Given the description of an element on the screen output the (x, y) to click on. 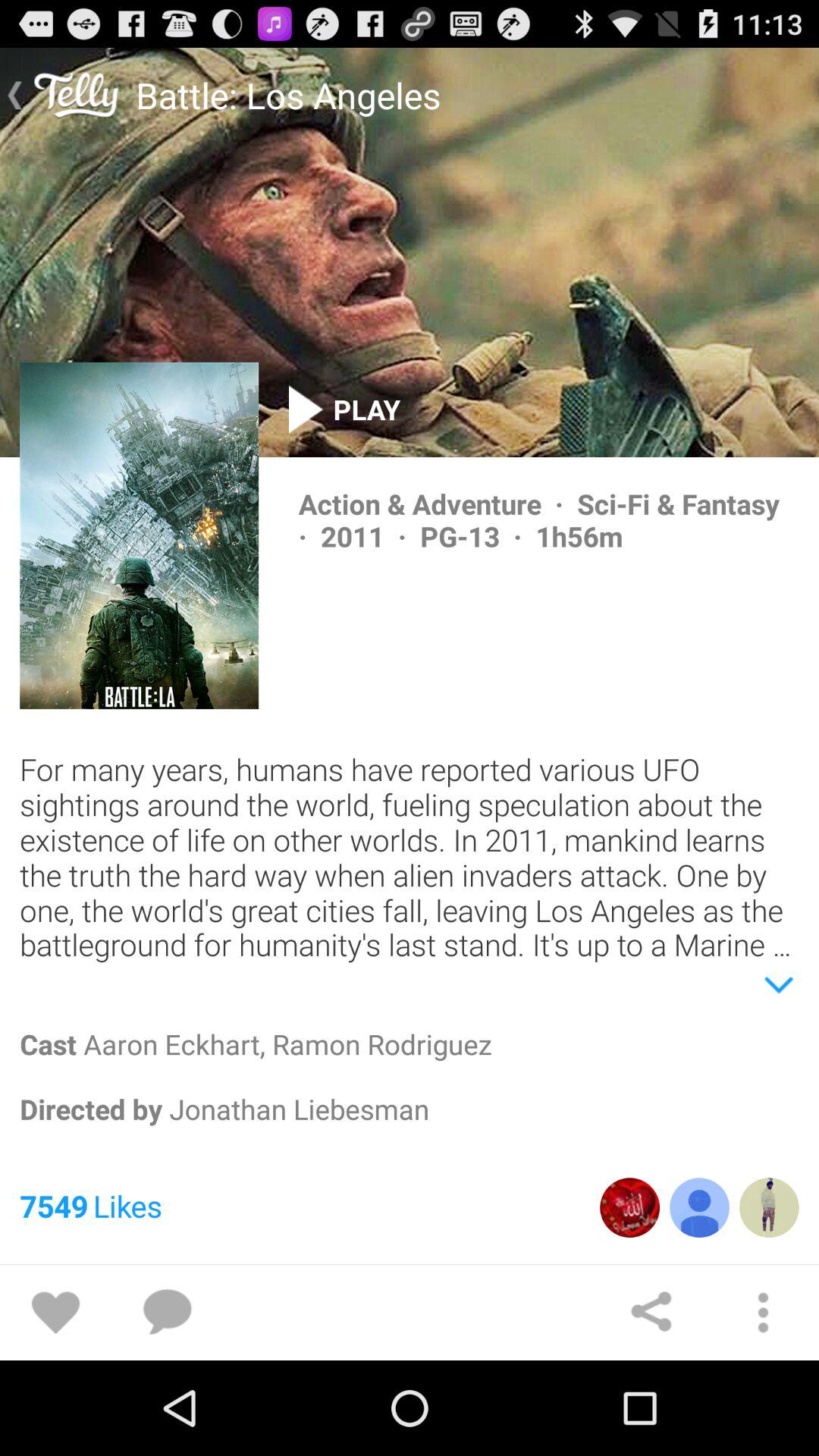
options (763, 1312)
